Given the description of an element on the screen output the (x, y) to click on. 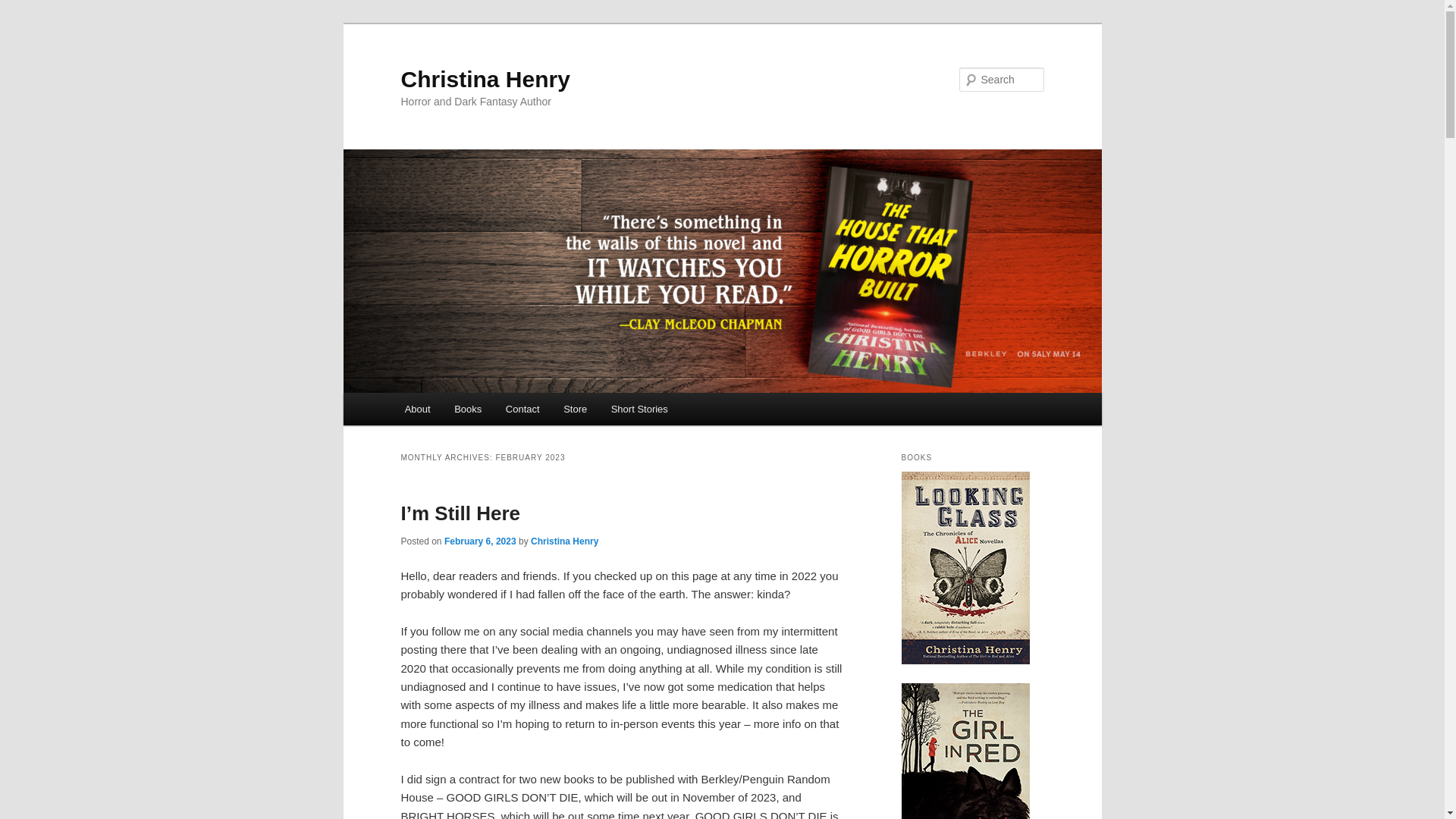
About (417, 409)
View all posts by Christina Henry (564, 541)
2:47 pm (480, 541)
Christina Henry (484, 78)
Short Stories (638, 409)
Books (467, 409)
Store (574, 409)
Contact (522, 409)
Search (24, 8)
